Given the description of an element on the screen output the (x, y) to click on. 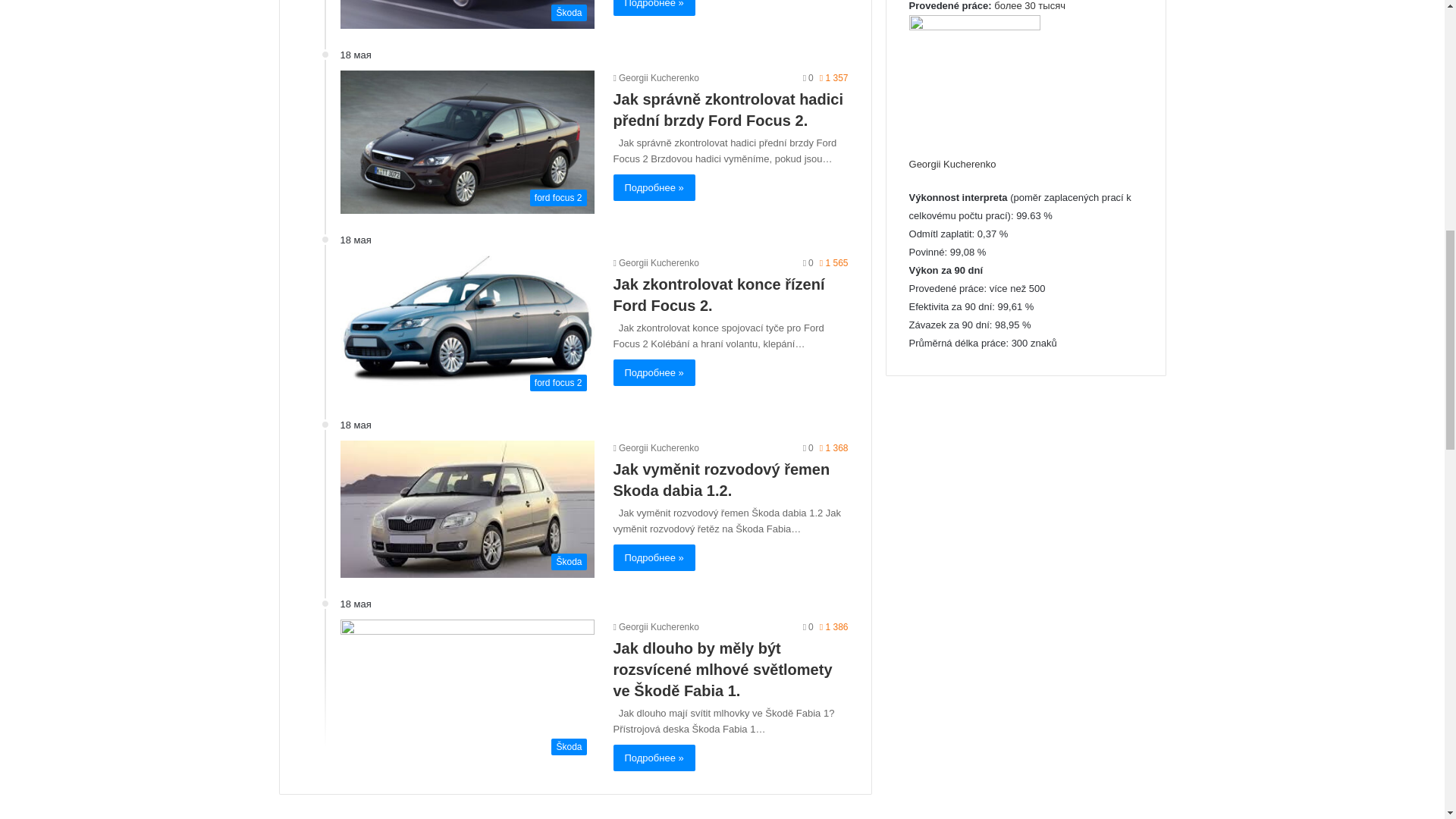
Georgii Kucherenko (655, 448)
Georgii Kucherenko (655, 77)
Georgii Kucherenko (655, 77)
ford focus 2 (466, 141)
Georgii Kucherenko (655, 626)
Georgii Kucherenko (655, 262)
